Given the description of an element on the screen output the (x, y) to click on. 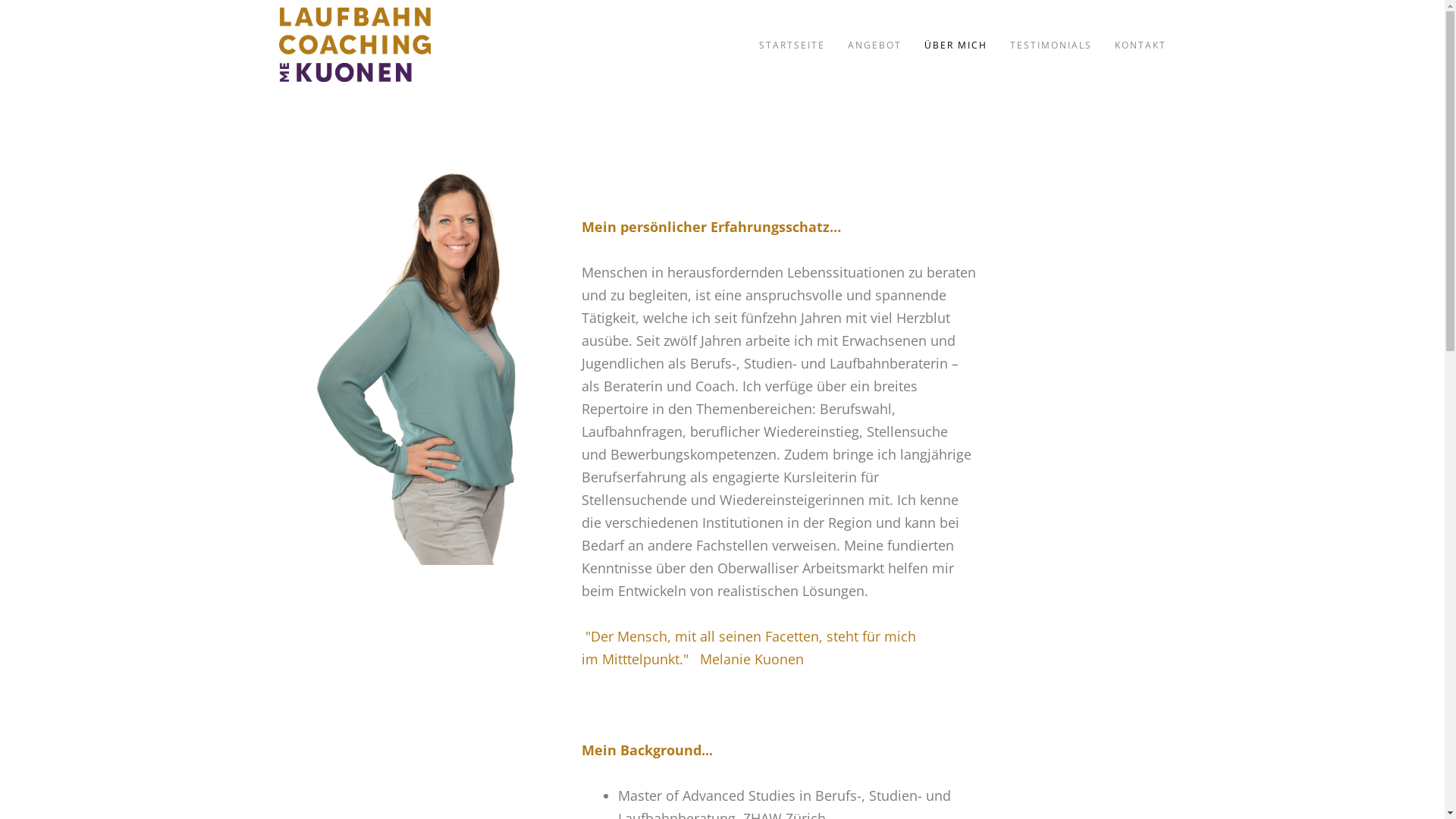
Laufbahncoaching Kuonen Element type: hover (354, 44)
KONTAKT Element type: text (1140, 43)
STARTSEITE Element type: text (802, 43)
ANGEBOT Element type: text (885, 43)
TESTIMONIALS Element type: text (1062, 43)
